Given the description of an element on the screen output the (x, y) to click on. 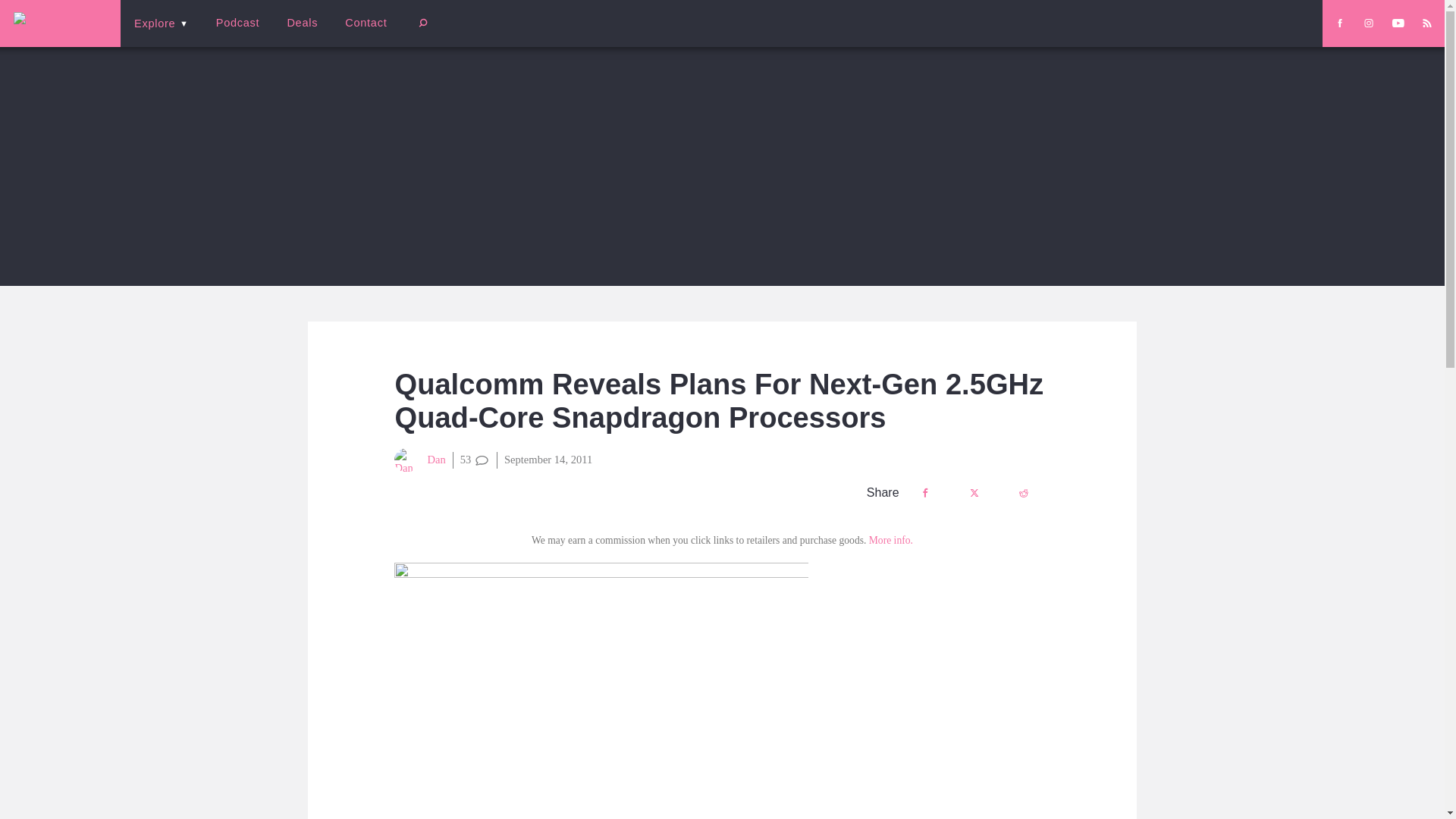
Dan (419, 459)
Droid Life on Instagram (1368, 23)
Explore (161, 23)
Droid Life on YouTube (1398, 23)
Deals (302, 23)
Droid Life on Facebook (1339, 23)
Podcast (237, 23)
Contact (365, 23)
Droid Life RSS (1426, 23)
Beginners' Guide (360, 33)
